Given the description of an element on the screen output the (x, y) to click on. 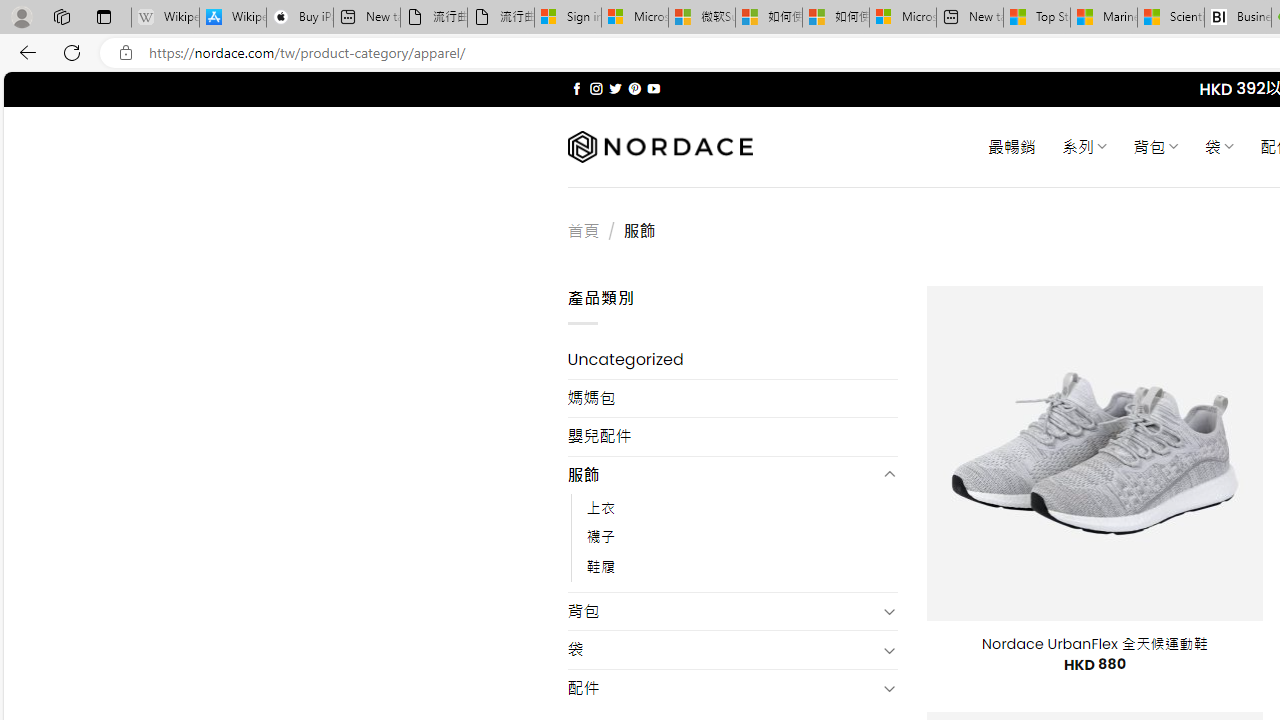
Microsoft Services Agreement (634, 17)
Top Stories - MSN (1036, 17)
Marine life - MSN (1103, 17)
Microsoft account | Account Checkup (902, 17)
Nordace (659, 147)
